Given the description of an element on the screen output the (x, y) to click on. 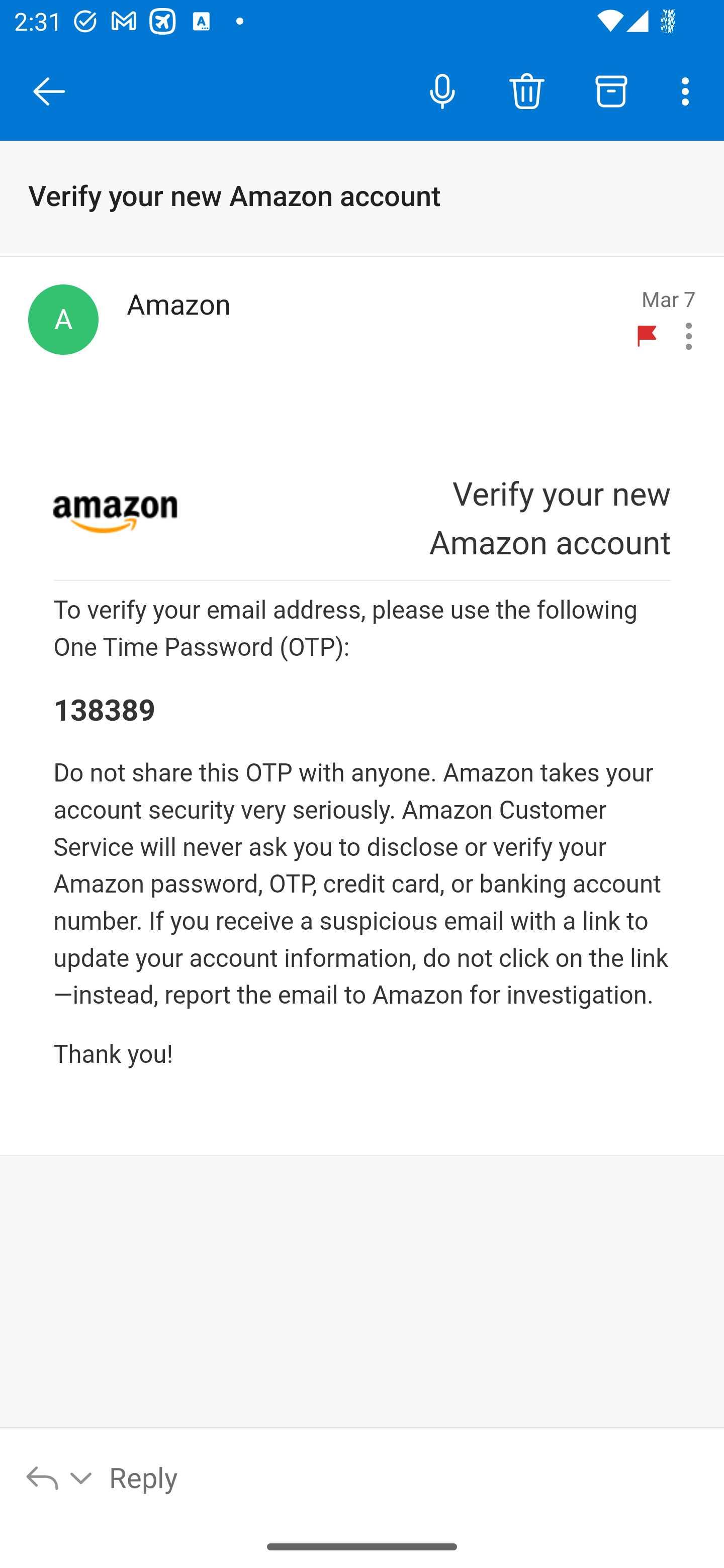
Close (49, 91)
Delete (526, 90)
Archive (611, 90)
More options (688, 90)
Amazon, account-update@amazon.com (63, 318)
Amazon
 (372, 321)
Message actions (688, 336)
Reply options (59, 1476)
